Given the description of an element on the screen output the (x, y) to click on. 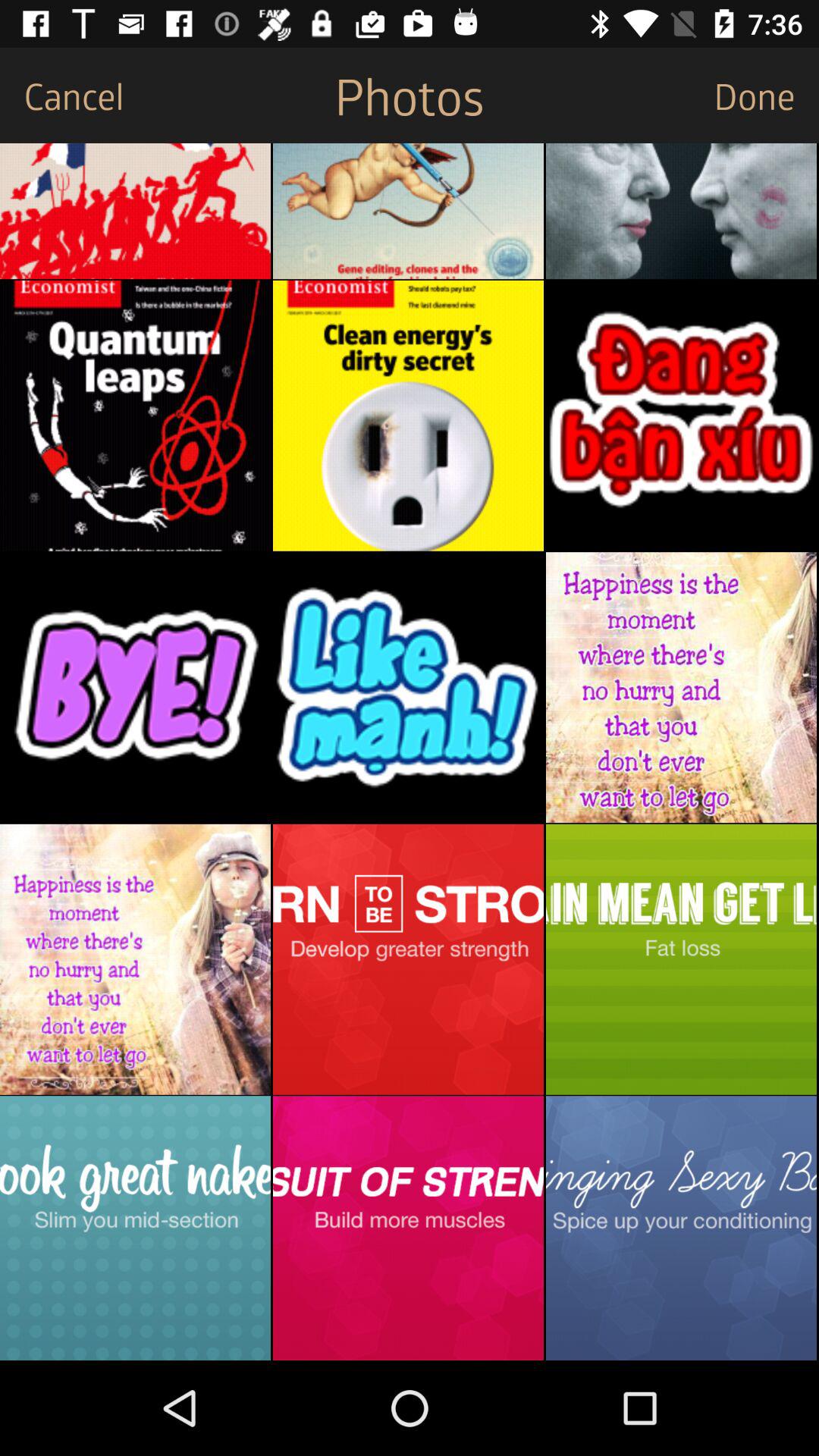
select photo (135, 1227)
